Given the description of an element on the screen output the (x, y) to click on. 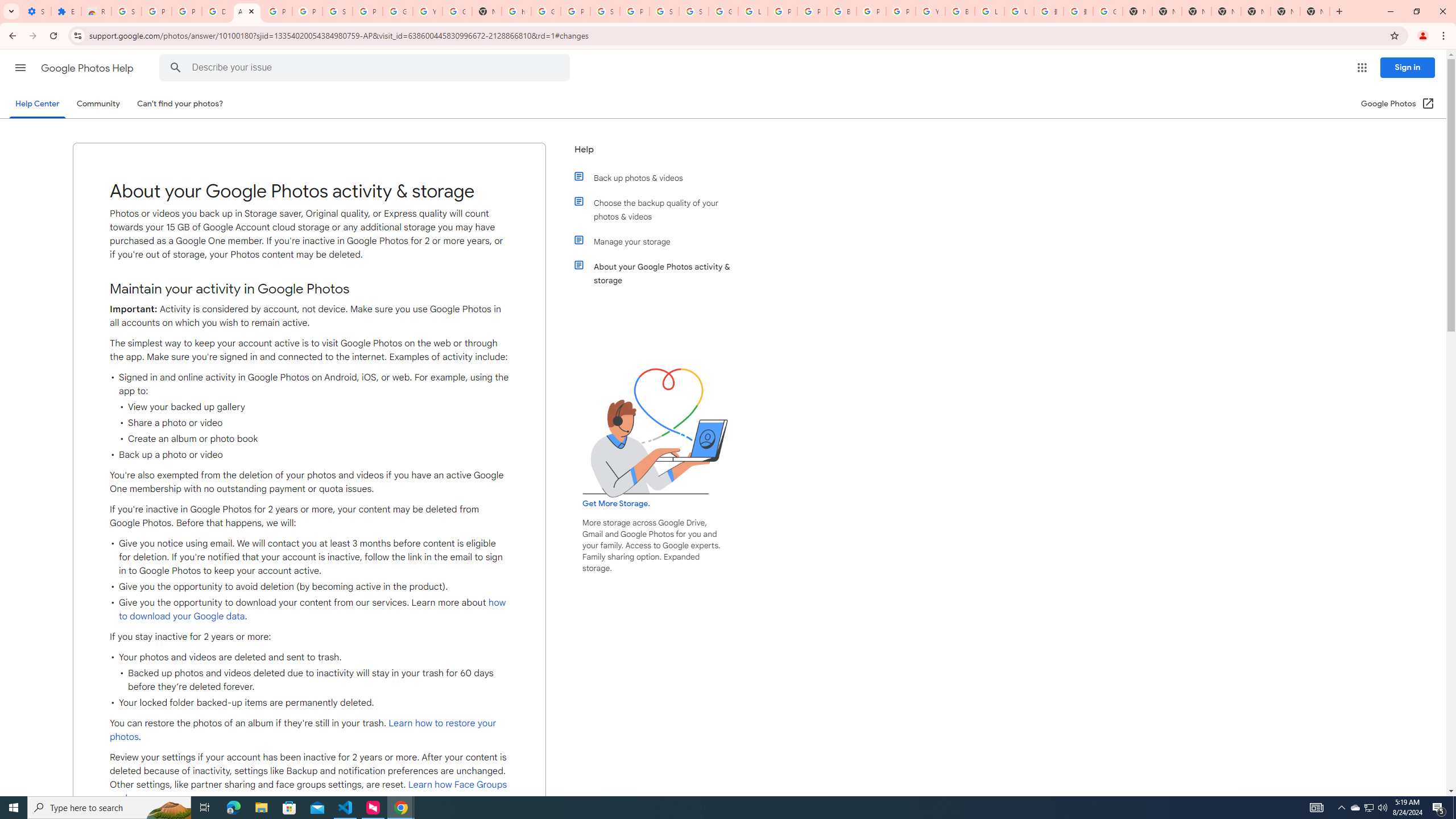
Help Center (36, 103)
Back up photos & videos (661, 177)
Sign in - Google Accounts (604, 11)
Delete photos & videos - Computer - Google Photos Help (216, 11)
Get More Storage. (615, 503)
Search Help Center (176, 67)
Sign in - Google Accounts (693, 11)
Main menu (20, 67)
